Given the description of an element on the screen output the (x, y) to click on. 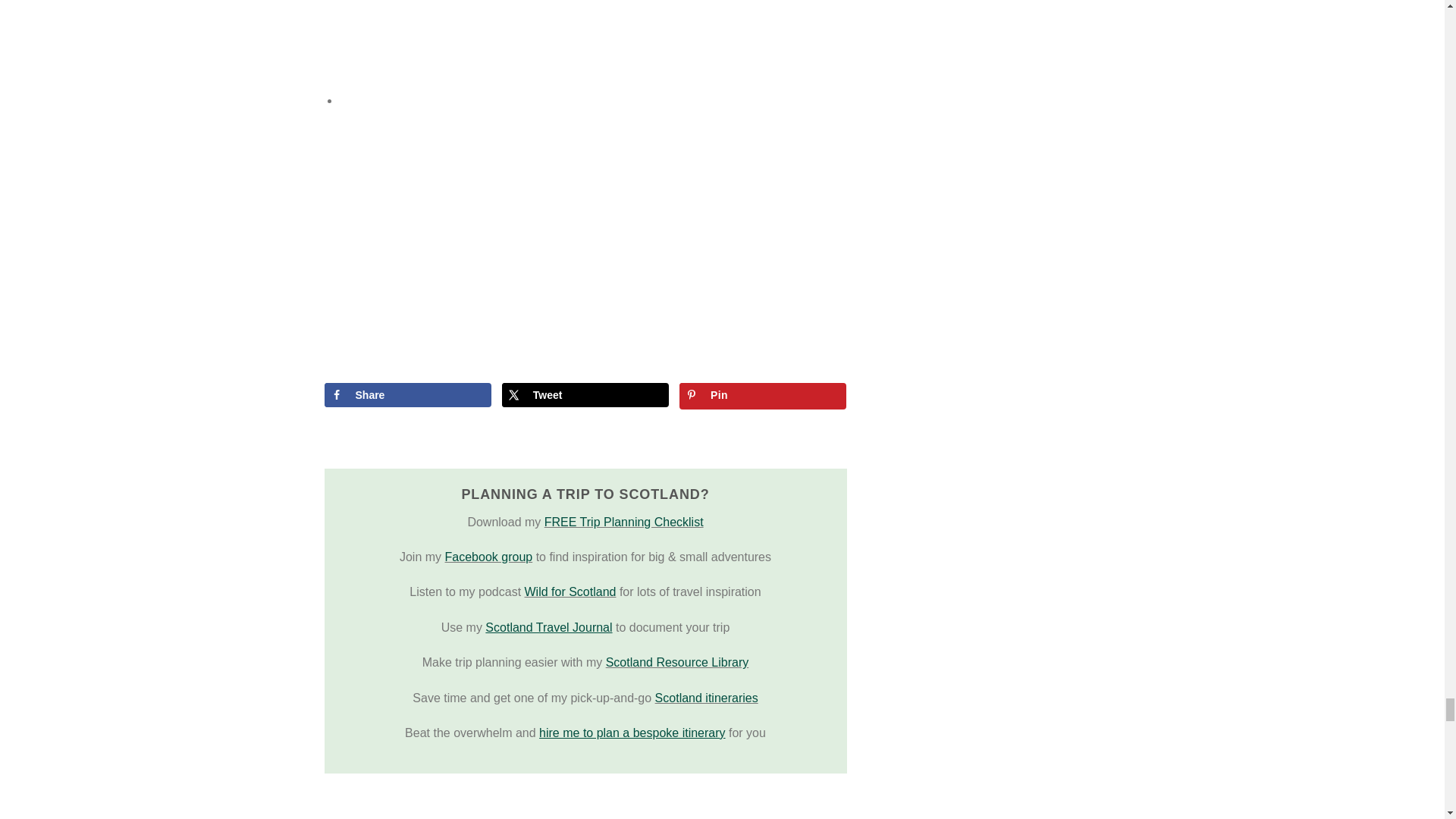
Share on Facebook (408, 395)
Share on X (585, 395)
Save to Pinterest (762, 396)
